Given the description of an element on the screen output the (x, y) to click on. 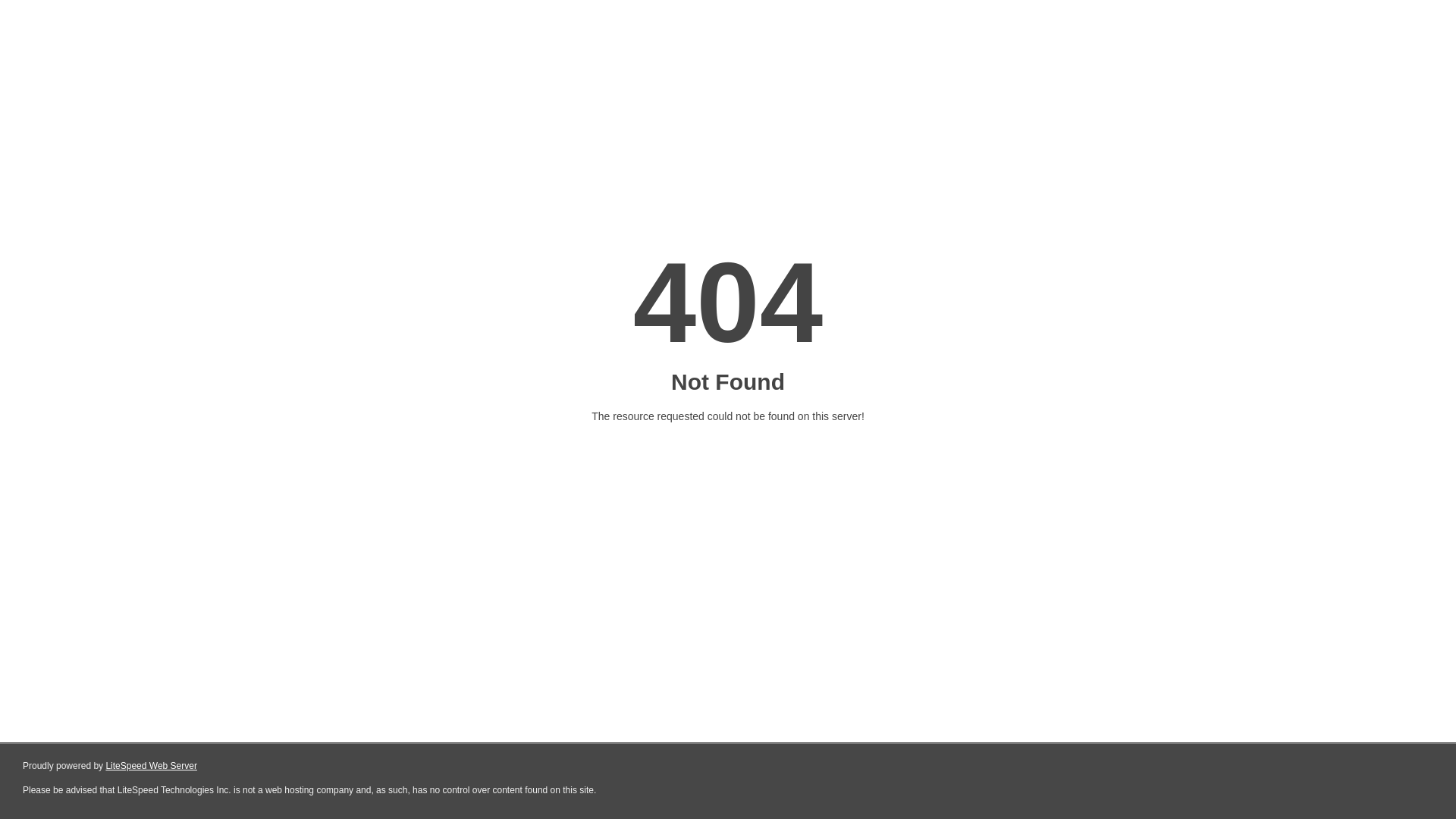
LiteSpeed Web Server Element type: text (151, 765)
